Given the description of an element on the screen output the (x, y) to click on. 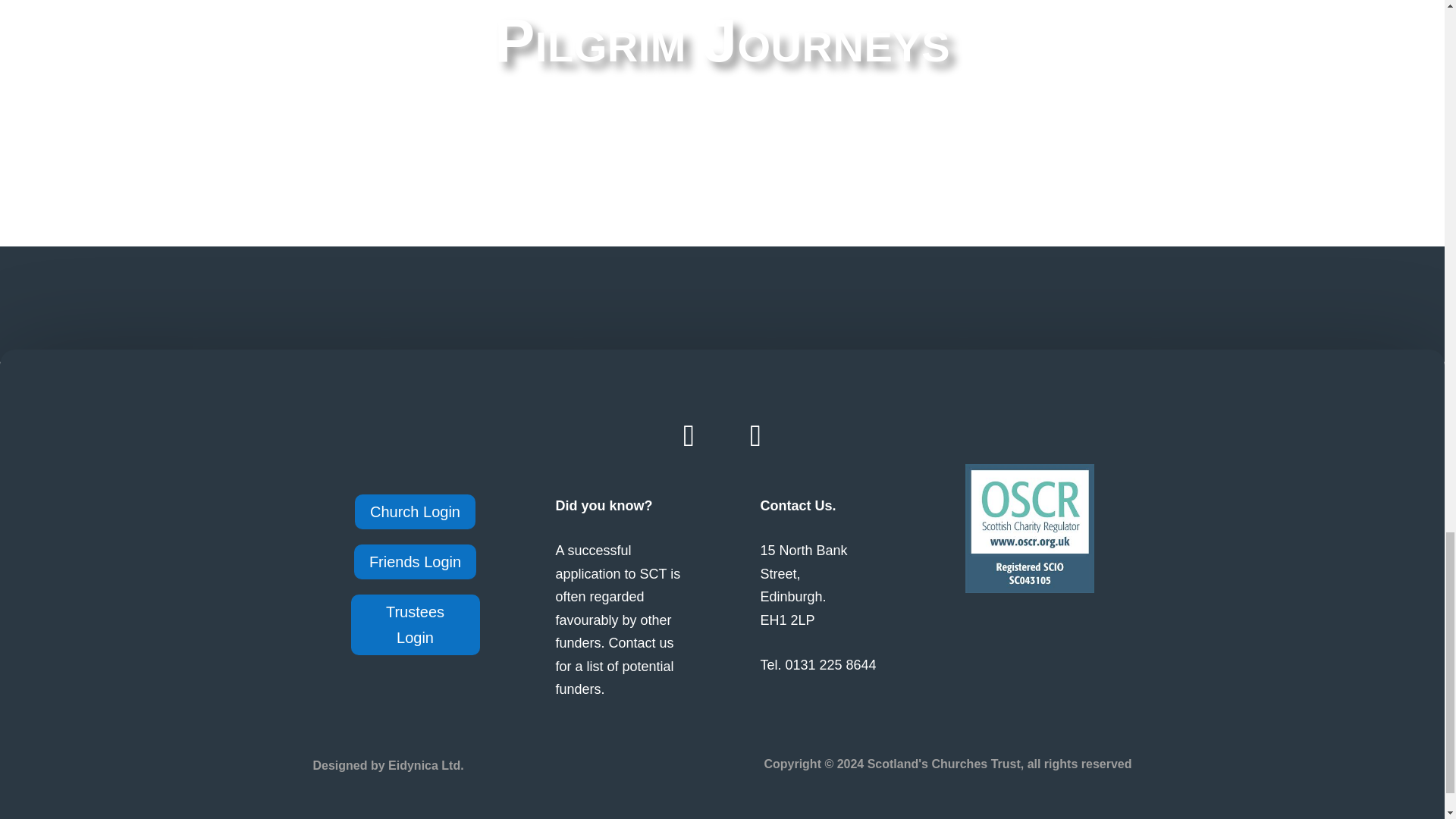
Follow on Twitter (755, 435)
Follow on Facebook (688, 435)
small-blue (1028, 528)
